Given the description of an element on the screen output the (x, y) to click on. 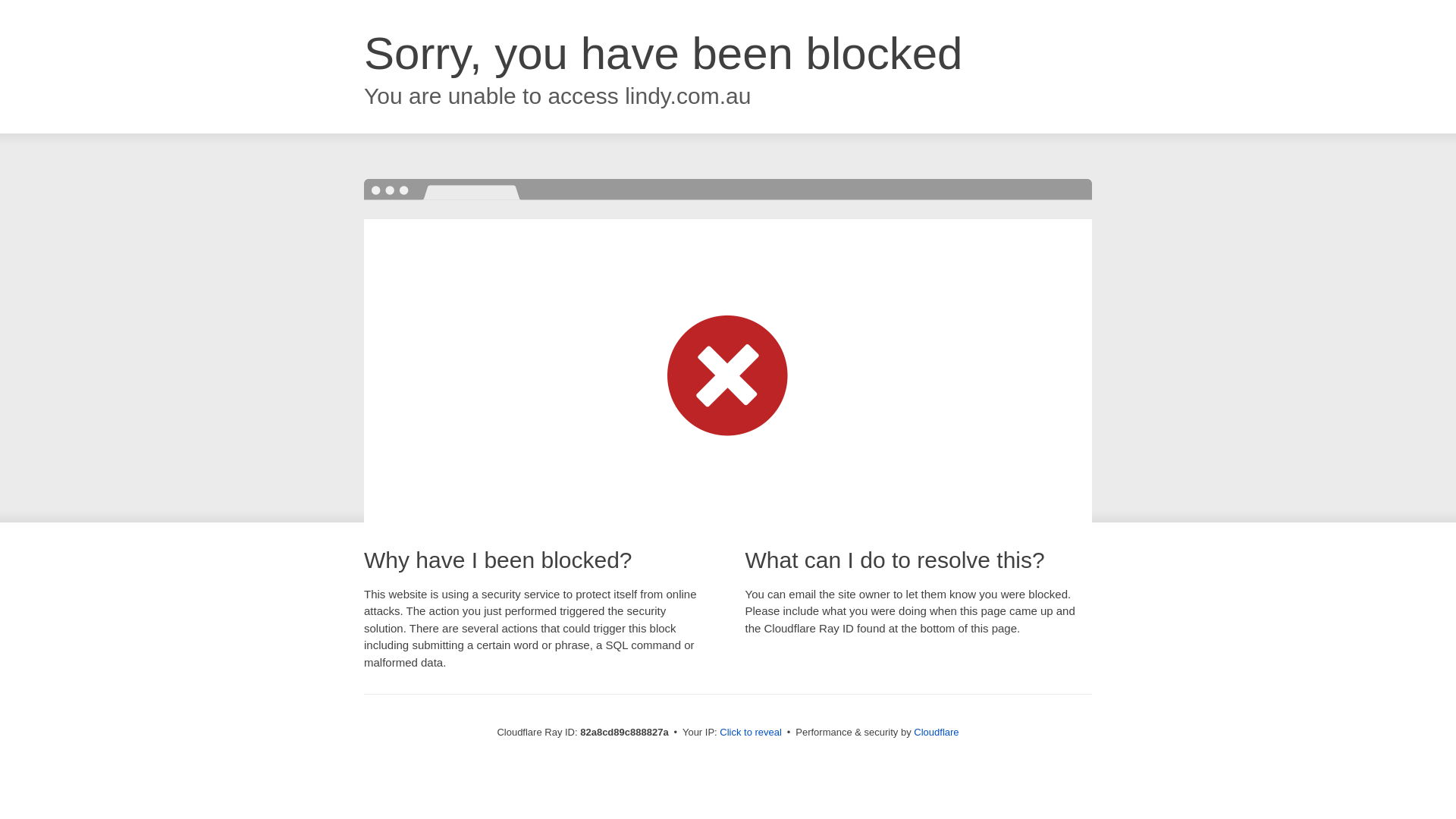
Cloudflare Element type: text (935, 731)
Click to reveal Element type: text (750, 732)
